Given the description of an element on the screen output the (x, y) to click on. 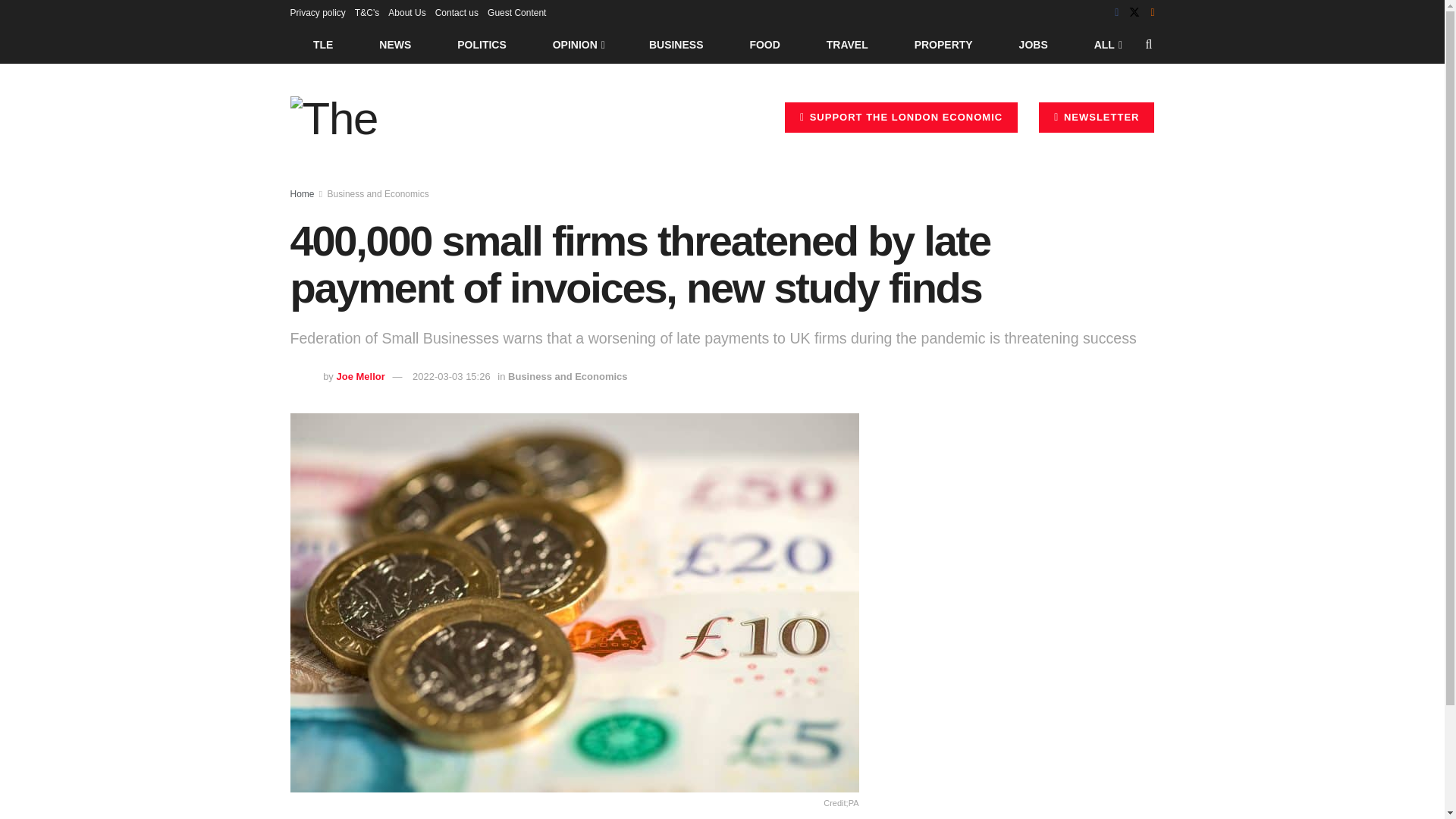
JOBS (1032, 44)
Contact us (457, 12)
POLITICS (481, 44)
TLE (322, 44)
BUSINESS (676, 44)
ALL (1106, 44)
FOOD (764, 44)
TRAVEL (847, 44)
PROPERTY (943, 44)
NEWS (394, 44)
Privacy policy (317, 12)
OPINION (577, 44)
NEWSLETTER (1096, 117)
Guest Content (516, 12)
About Us (406, 12)
